Given the description of an element on the screen output the (x, y) to click on. 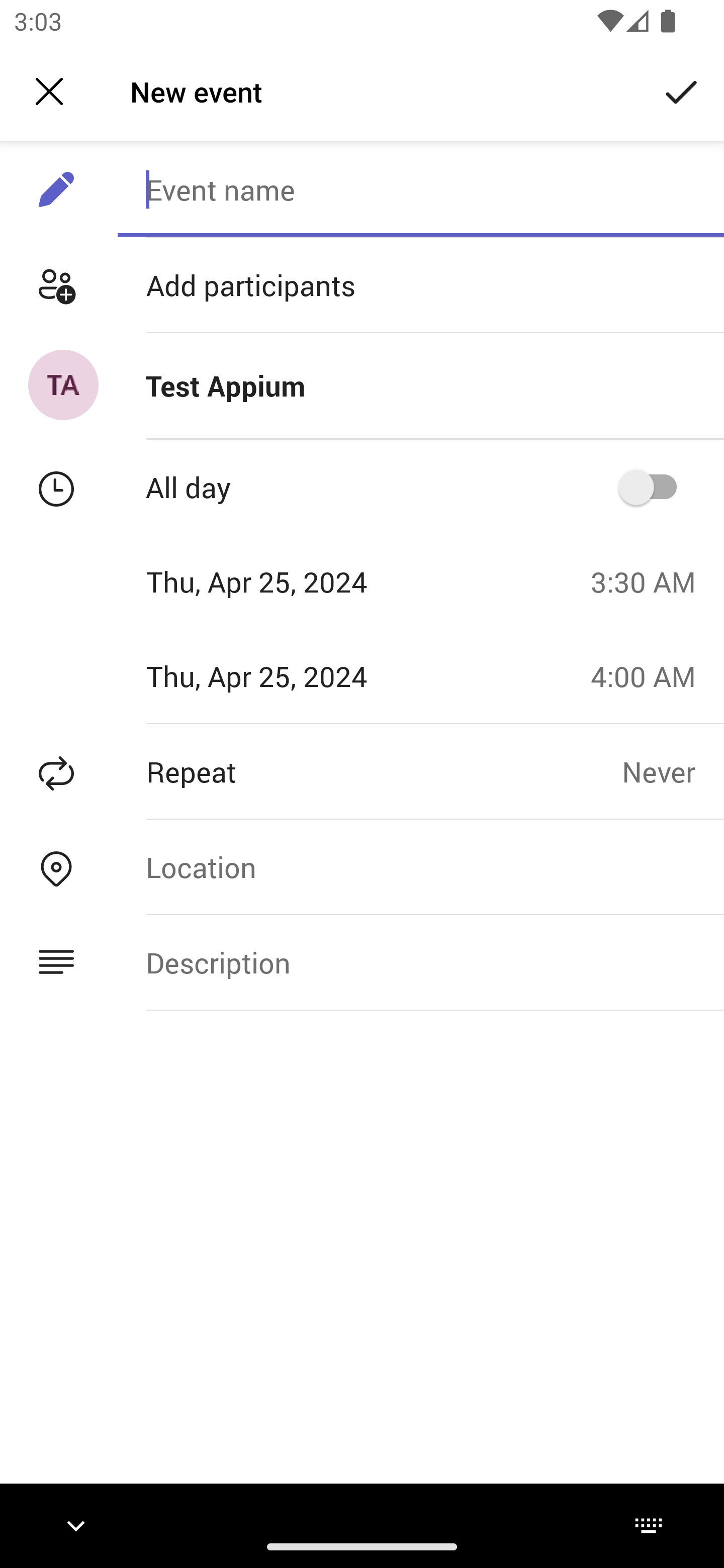
Back (49, 91)
Send invite (681, 90)
Event name (420, 189)
Add participants Add participants option (362, 285)
All day (654, 486)
Thu, Apr 25, 2024 Starts Thursday Apr 25, 2024 (288, 581)
3:30 AM Start time 3:30 AM (650, 581)
Thu, Apr 25, 2024 Ends Thursday Apr 25, 2024 (288, 675)
4:00 AM End time 4:00 AM (650, 675)
Repeat (310, 771)
Never Repeat Never (672, 771)
Location (420, 867)
Description (420, 962)
